Given the description of an element on the screen output the (x, y) to click on. 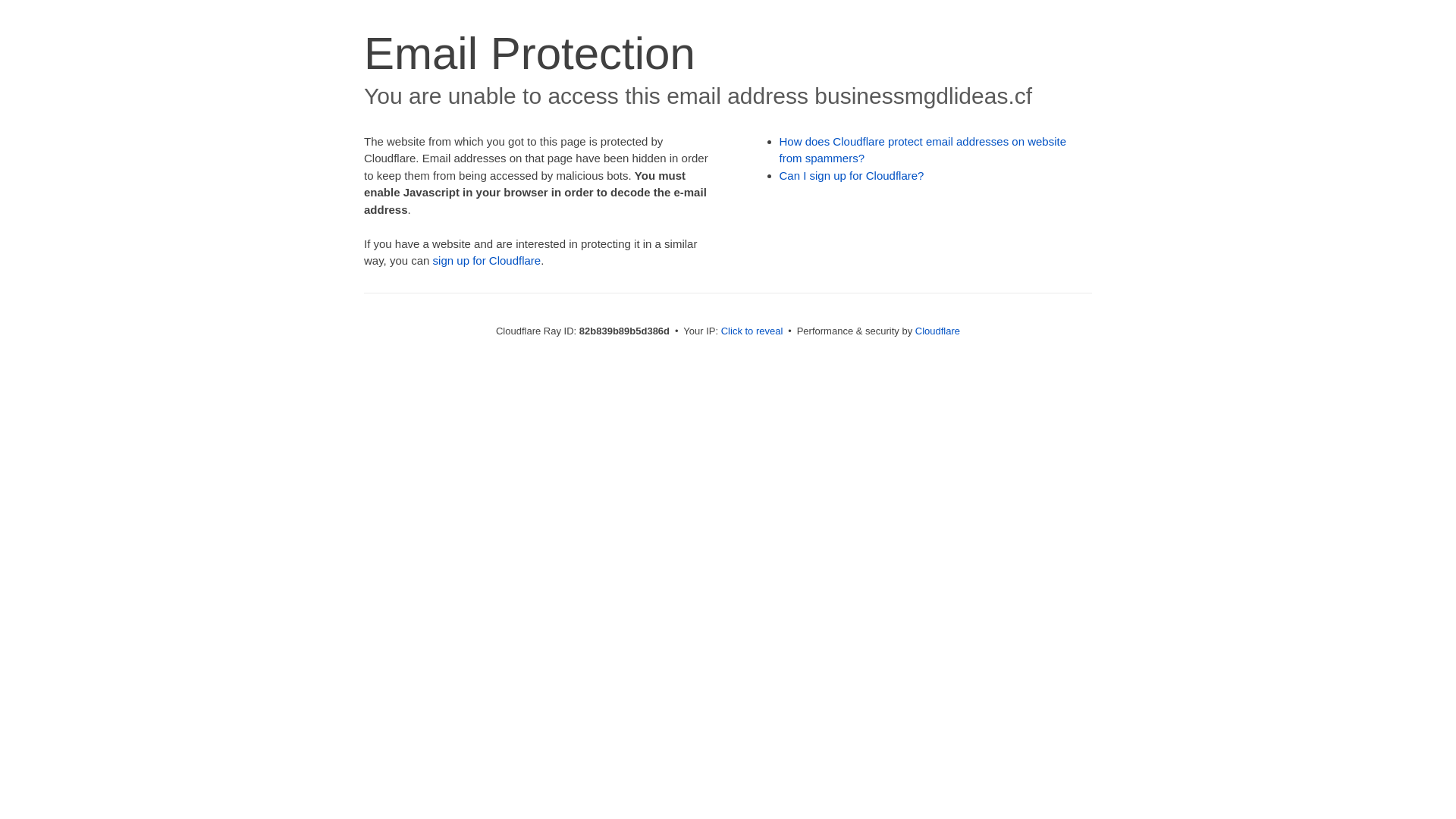
Can I sign up for Cloudflare? Element type: text (851, 175)
Click to reveal Element type: text (752, 330)
sign up for Cloudflare Element type: text (487, 260)
Cloudflare Element type: text (937, 330)
